Given the description of an element on the screen output the (x, y) to click on. 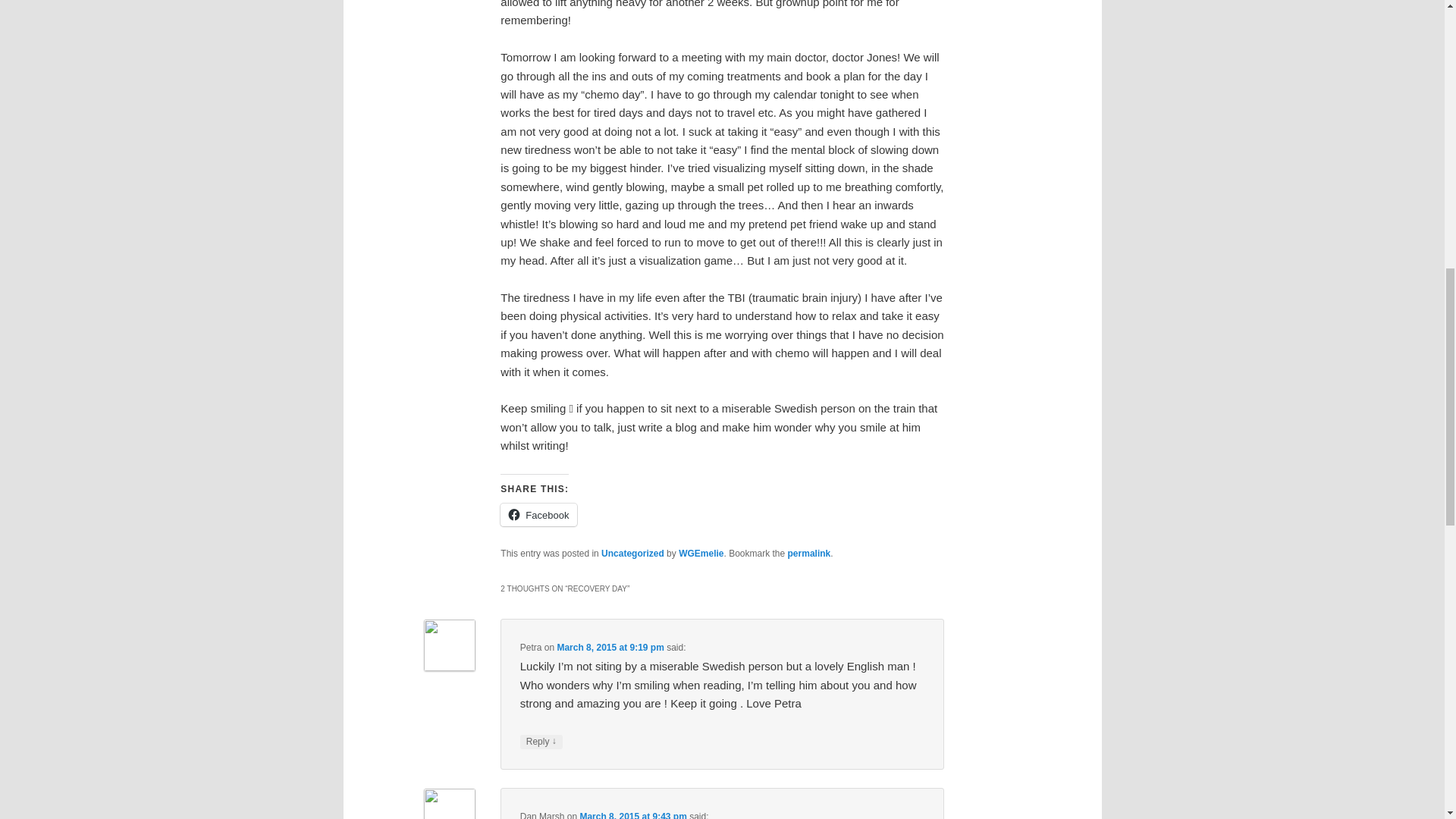
WGEmelie (700, 552)
permalink (809, 552)
Uncategorized (632, 552)
March 8, 2015 at 9:19 pm (609, 647)
Facebook (538, 514)
March 8, 2015 at 9:43 pm (632, 815)
Permalink to Recovery day (809, 552)
Click to share on Facebook (538, 514)
